Given the description of an element on the screen output the (x, y) to click on. 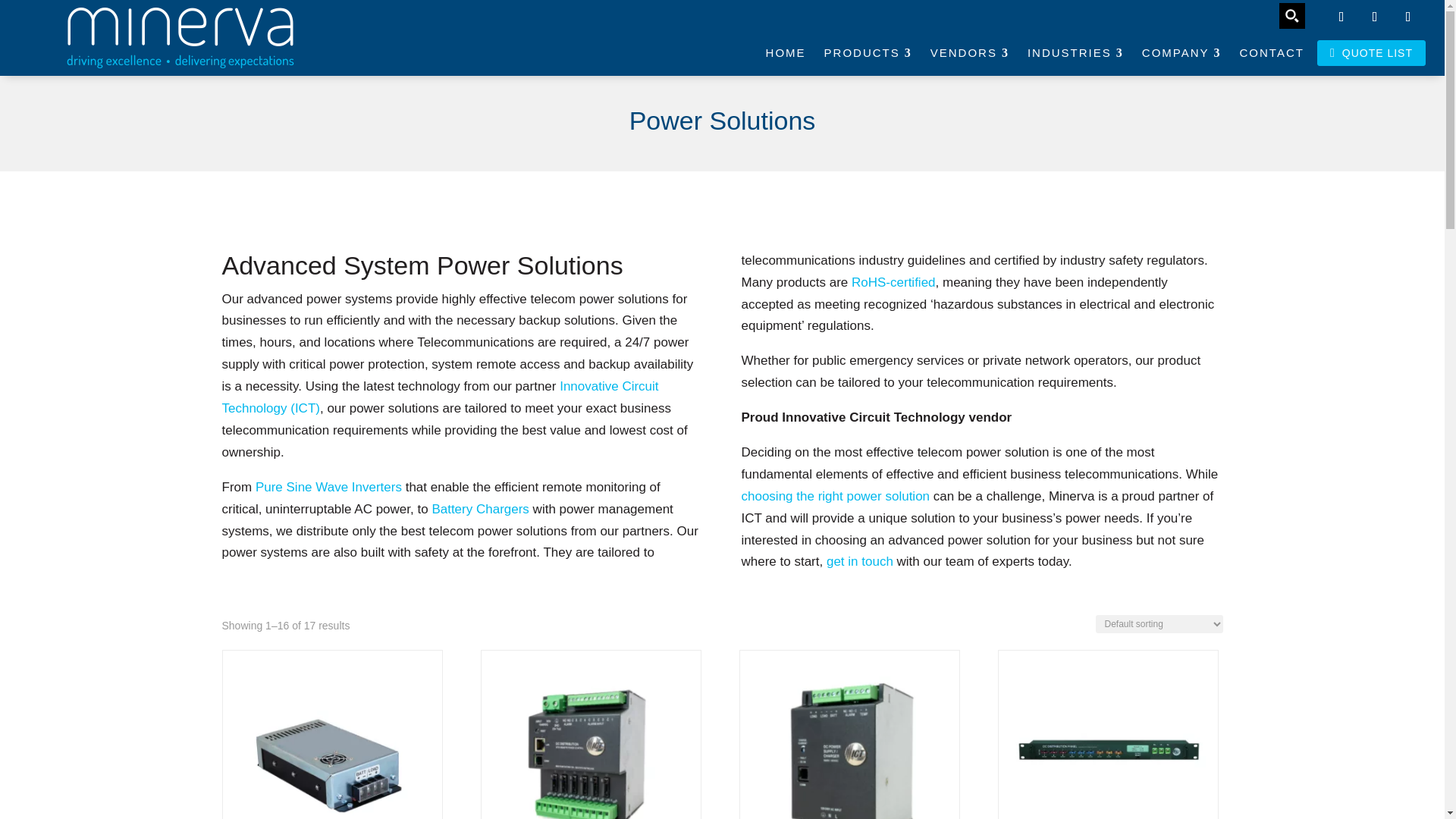
VENDORS (969, 52)
Minerva-logo-80 (180, 37)
Follow on Youtube (1341, 16)
HOME (786, 52)
Follow on LinkedIn (1408, 16)
Follow on X (1375, 16)
PRODUCTS (868, 52)
